Given the description of an element on the screen output the (x, y) to click on. 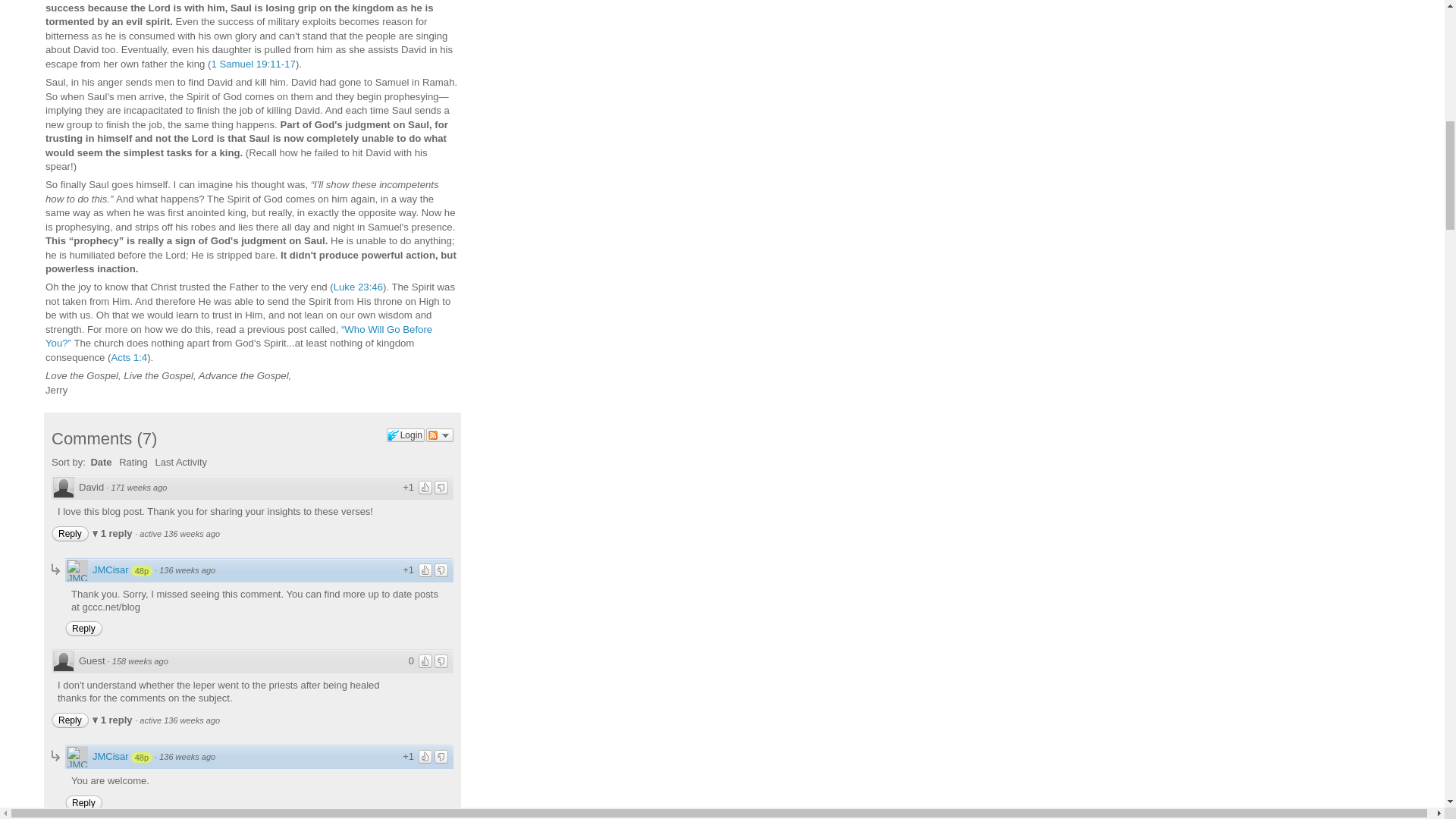
Login (406, 435)
Comment Permalink (186, 569)
Comment Permalink (138, 487)
1 Samuel 19:11-17 (253, 63)
Luke 23:46 (357, 286)
Follow the discussion (439, 435)
Acts 1:4 (130, 357)
Comment Permalink (140, 660)
Comment Permalink (186, 756)
